Given the description of an element on the screen output the (x, y) to click on. 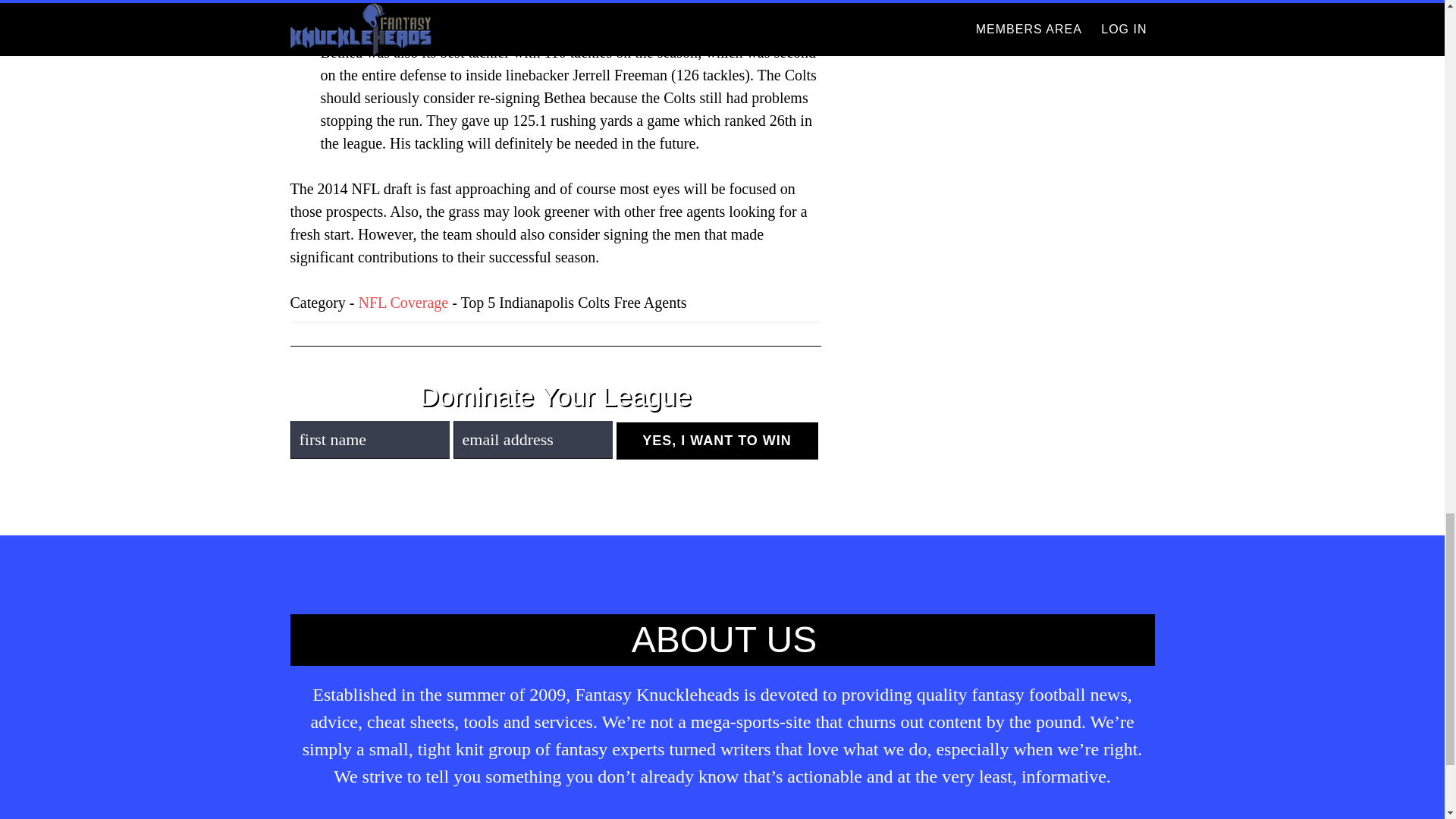
NFL Coverage (403, 302)
Yes, I Want To Win (715, 440)
Yes, I Want To Win (715, 440)
